Given the description of an element on the screen output the (x, y) to click on. 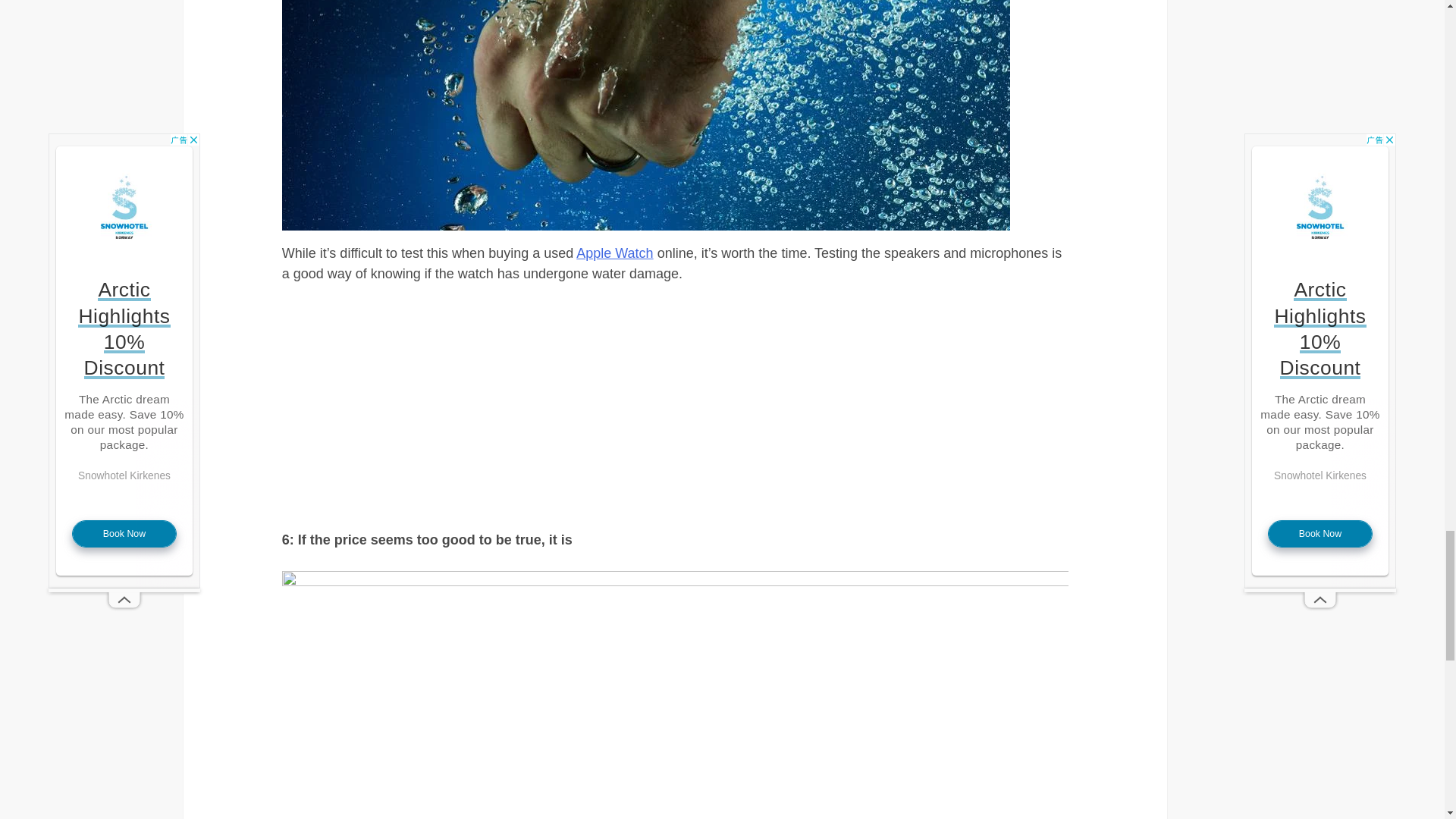
Apple Watch (614, 253)
